Given the description of an element on the screen output the (x, y) to click on. 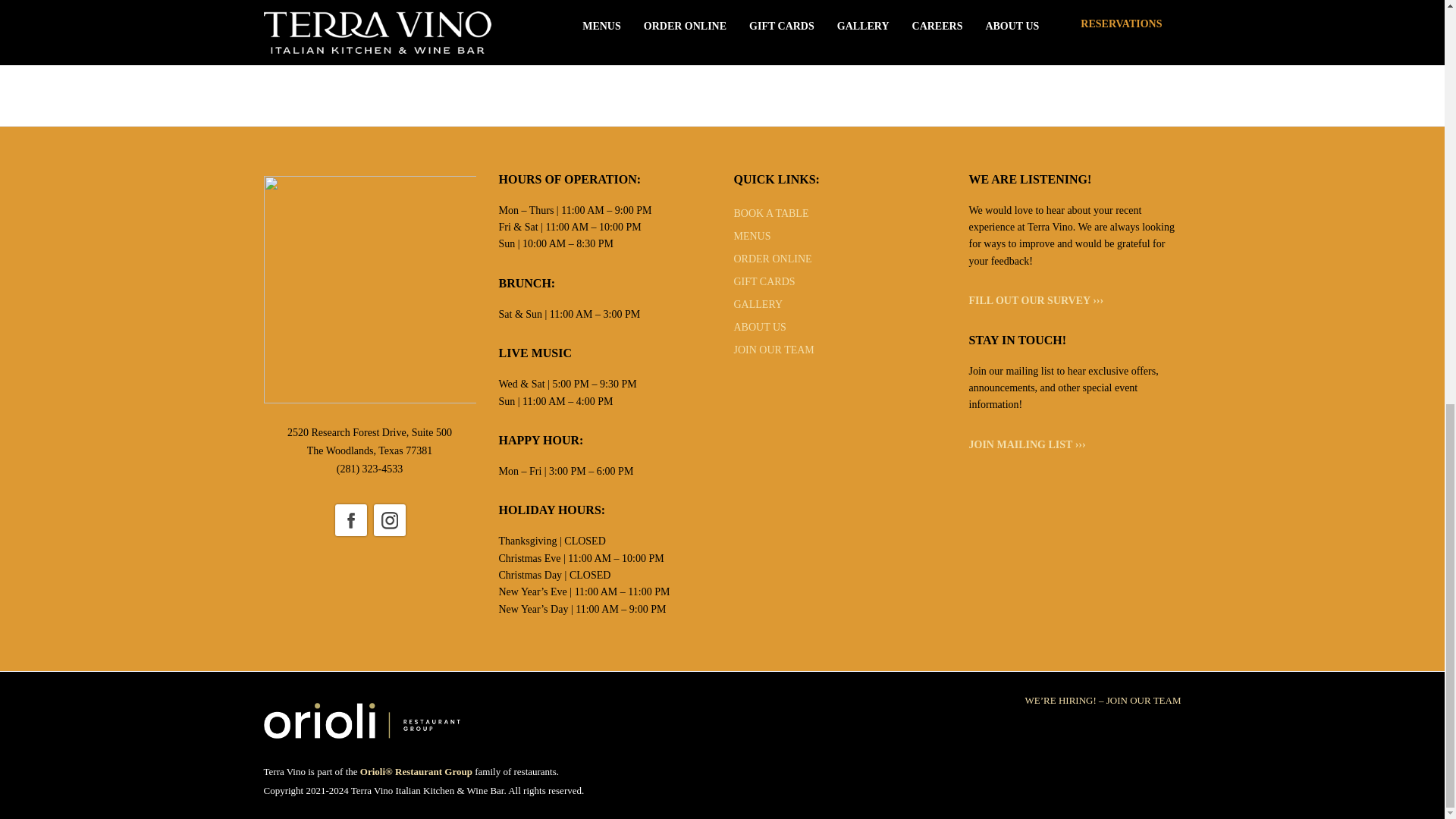
Visit Us On Facebook (349, 518)
Get started (722, 32)
ORDER ONLINE (772, 258)
Visit Us On Instagram (389, 518)
JOIN OUR TEAM (773, 349)
GIFT CARDS (763, 281)
MENUS (752, 235)
GALLERY (758, 304)
ABOUT US (759, 326)
BOOK A TABLE (771, 213)
